Given the description of an element on the screen output the (x, y) to click on. 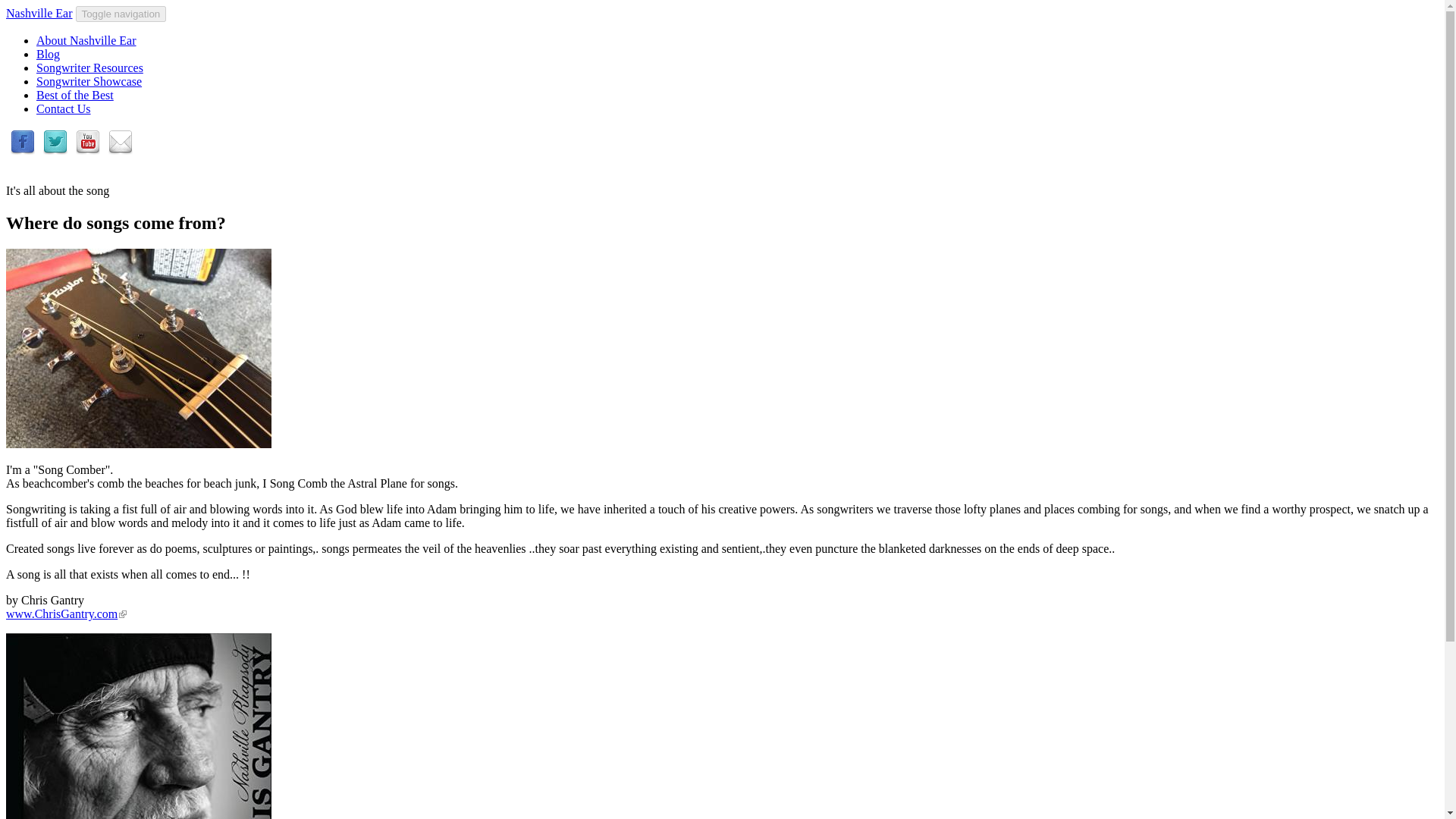
YouTube (87, 150)
Chris Gantry (137, 347)
Nashville Ear (38, 12)
Twitter (54, 150)
Songwriter Resources (89, 67)
Home (38, 12)
Toggle navigation (121, 13)
About Nashville Ear (86, 40)
Facebook (22, 150)
